Given the description of an element on the screen output the (x, y) to click on. 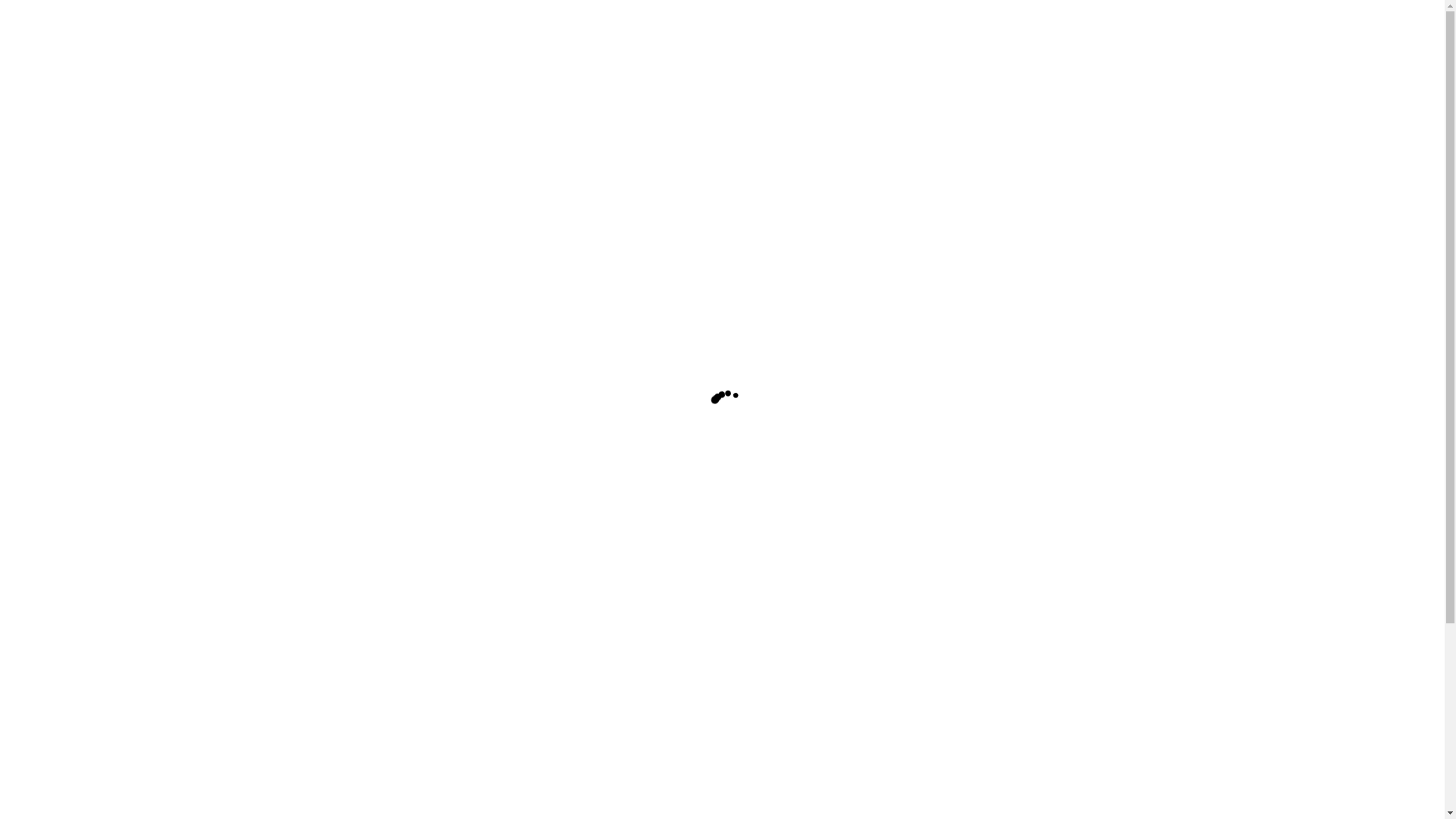
Staff Element type: text (78, 435)
Contact Element type: text (55, 530)
Volunteer Element type: text (59, 315)
Programs Element type: text (59, 113)
Facebook Element type: text (59, 342)
Store Element type: text (49, 274)
Staff Element type: text (78, 59)
Support AIM Element type: text (68, 517)
Sponsor Element type: text (55, 301)
Facebook Element type: text (59, 248)
Home Element type: text (50, 18)
Volunteer Board Element type: text (106, 45)
Donate Element type: text (53, 288)
Home Element type: text (50, 394)
Volunteer Element type: text (59, 221)
Volunteer Board Element type: text (106, 421)
Support AIM Element type: text (68, 140)
Why AIM? Element type: text (63, 86)
Testimonials Element type: text (97, 100)
Programs Element type: text (59, 489)
Donate Element type: text (53, 194)
Resources Element type: text (61, 503)
Why AIM? Element type: text (63, 462)
News & Events Element type: text (74, 235)
News & Events Element type: text (74, 329)
AIM Element type: hover (67, 368)
Resources Element type: text (61, 127)
Family Advisory Committee Element type: text (135, 72)
Testimonials Element type: text (97, 476)
Contact Element type: text (55, 154)
About Us Element type: text (59, 407)
Sponsor Element type: text (55, 207)
Store Element type: text (49, 180)
Family Advisory Committee Element type: text (135, 448)
About Us Element type: text (59, 31)
